Given the description of an element on the screen output the (x, y) to click on. 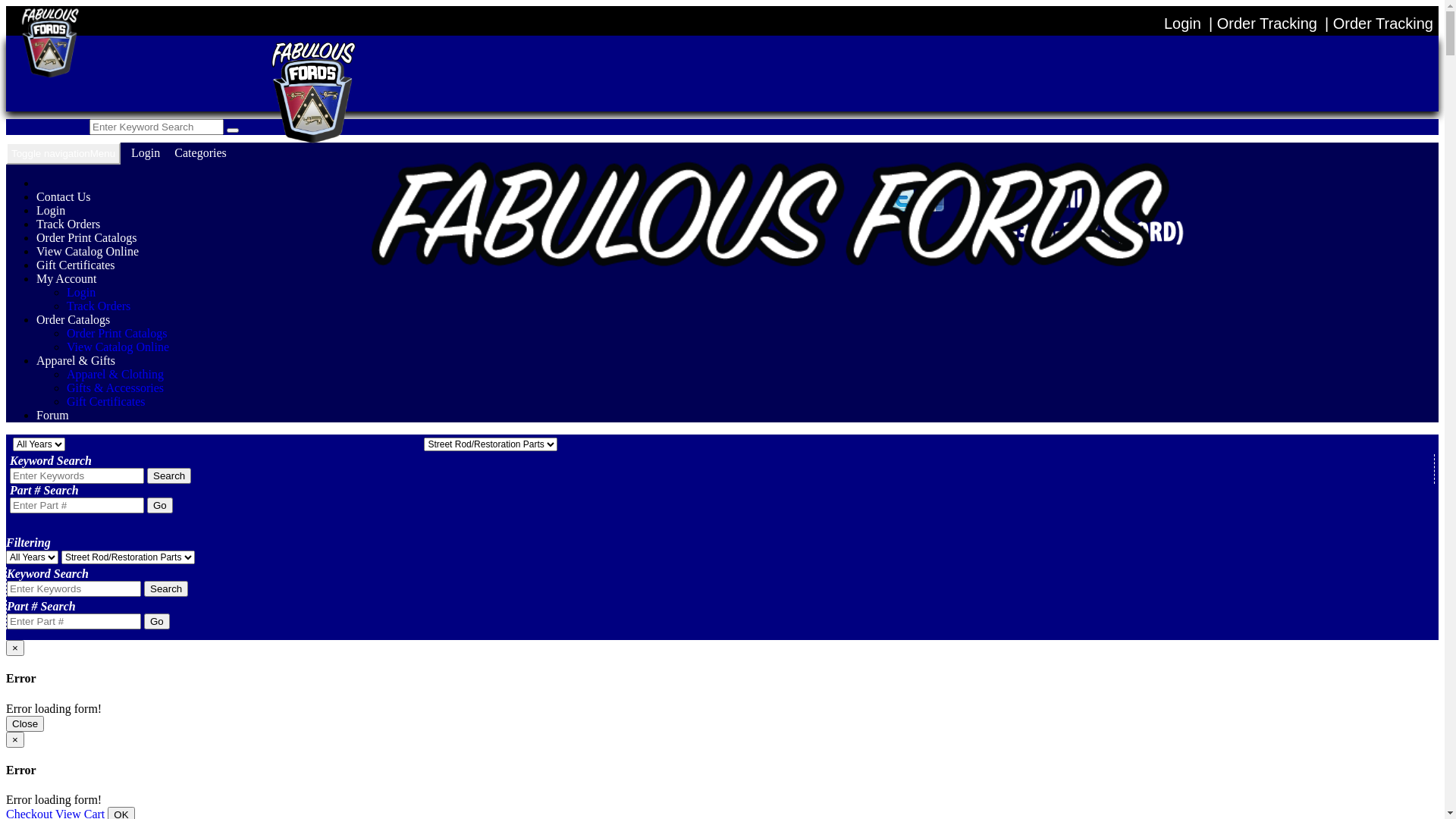
View Catalog Online Element type: text (87, 250)
Track Orders Element type: text (68, 223)
Login Element type: text (145, 152)
Login Element type: text (50, 209)
Order Print Catalogs Element type: text (116, 332)
Order Catalogs Element type: text (72, 319)
Categories Element type: text (199, 152)
Forum Element type: text (52, 414)
| Order Tracking Element type: text (1262, 23)
Gift Certificates Element type: text (105, 401)
My Account Element type: text (66, 278)
Go Element type: text (156, 621)
Order Print Catalogs Element type: text (86, 237)
Gifts & Accessories Element type: text (114, 387)
Contact Us Element type: text (63, 196)
Toggle navigationMenu Element type: text (63, 153)
Login Element type: text (80, 291)
| Order Tracking Element type: text (1379, 23)
Apparel & Gifts Element type: text (75, 360)
Search Element type: text (169, 475)
Search Element type: text (166, 588)
Login Element type: text (1182, 23)
Go Element type: text (159, 505)
Gift Certificates Element type: text (75, 264)
Close Element type: text (24, 723)
View Catalog Online Element type: text (117, 346)
Apparel & Clothing Element type: text (114, 373)
Track Orders Element type: text (98, 305)
